Given the description of an element on the screen output the (x, y) to click on. 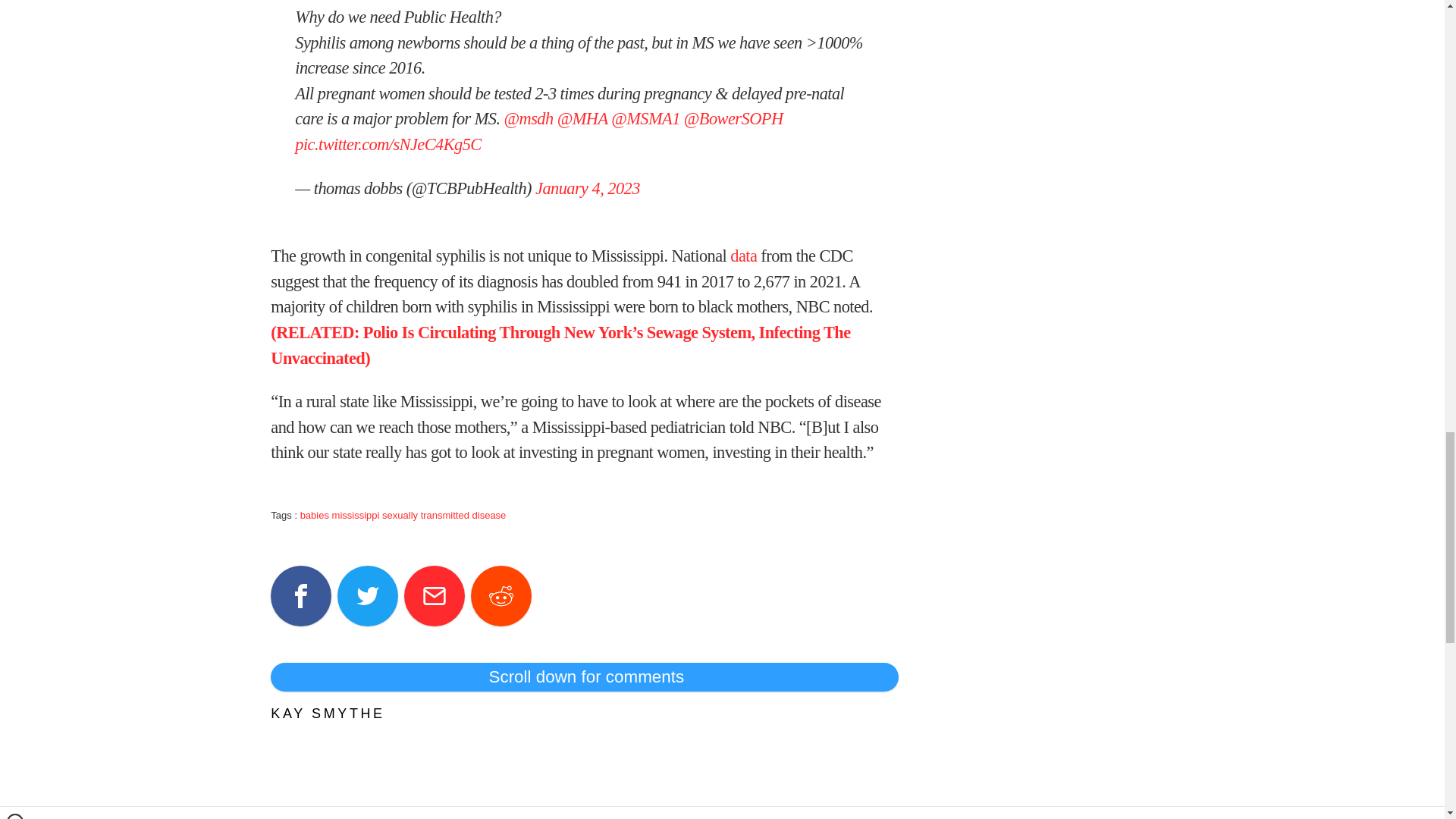
Scroll down for comments (584, 676)
